Given the description of an element on the screen output the (x, y) to click on. 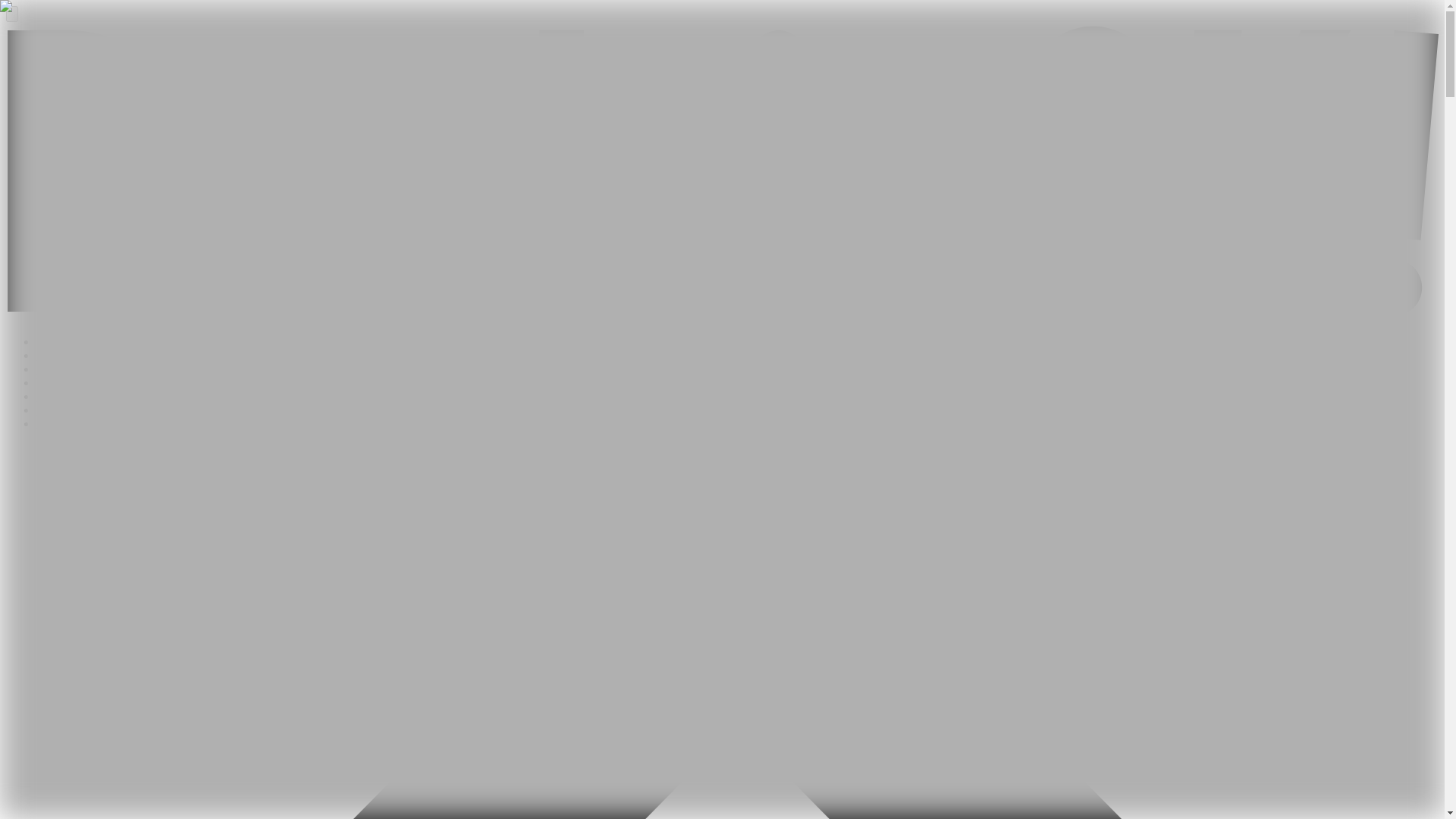
Lifestyle (58, 422)
Explore (55, 368)
Dream Careers Hub (84, 409)
Stays (49, 395)
Homes (52, 354)
